Given the description of an element on the screen output the (x, y) to click on. 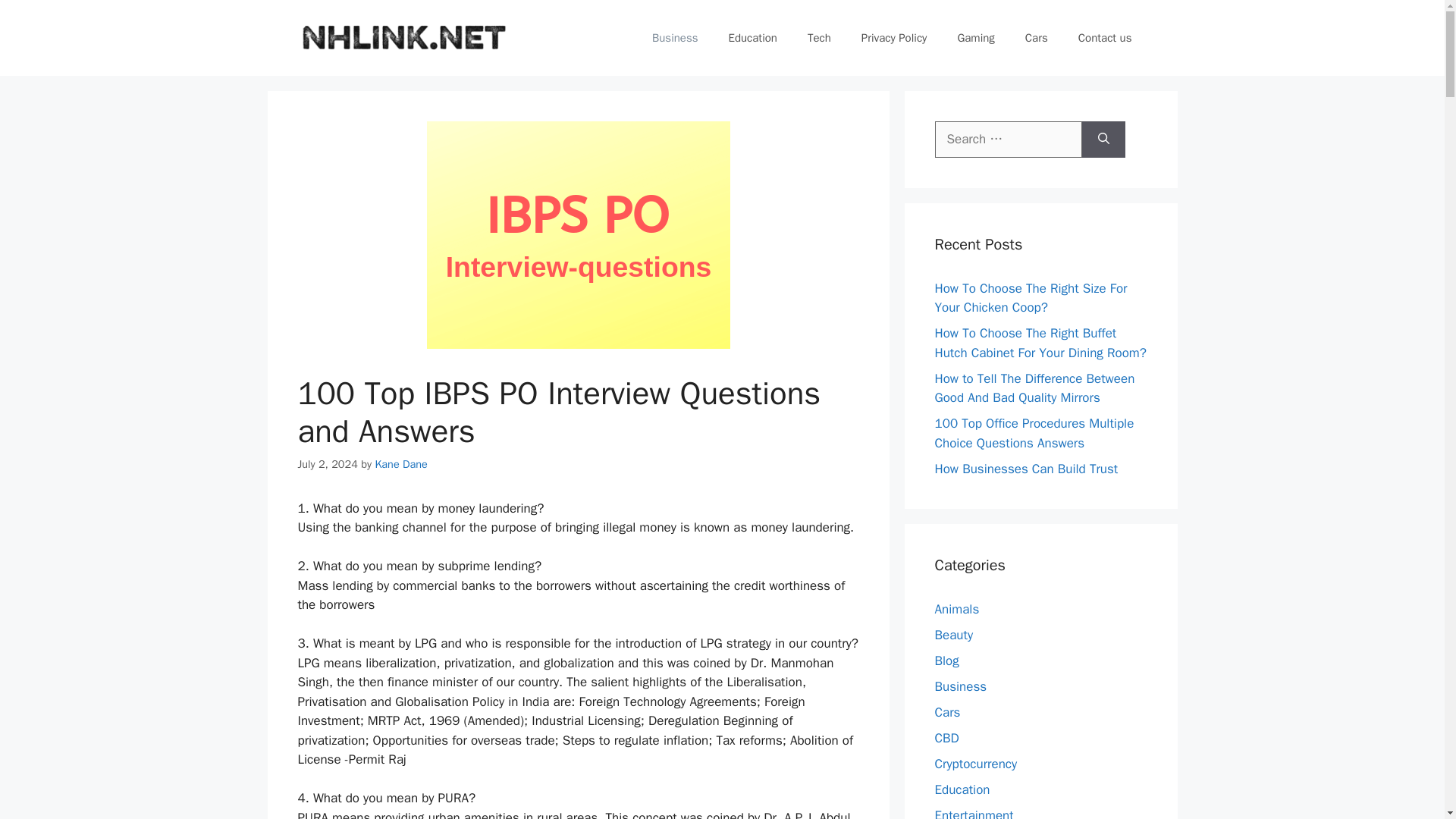
Animals (956, 609)
Blog (946, 660)
Business (675, 37)
Search for: (1007, 139)
Entertainment (973, 813)
Business (960, 686)
How Businesses Can Build Trust (1026, 468)
100 Top Office Procedures Multiple Choice Questions Answers (1034, 433)
Privacy Policy (893, 37)
Beauty (953, 634)
Education (962, 789)
Cryptocurrency (975, 763)
Tech (818, 37)
How To Choose The Right Size For Your Chicken Coop? (1030, 298)
